Given the description of an element on the screen output the (x, y) to click on. 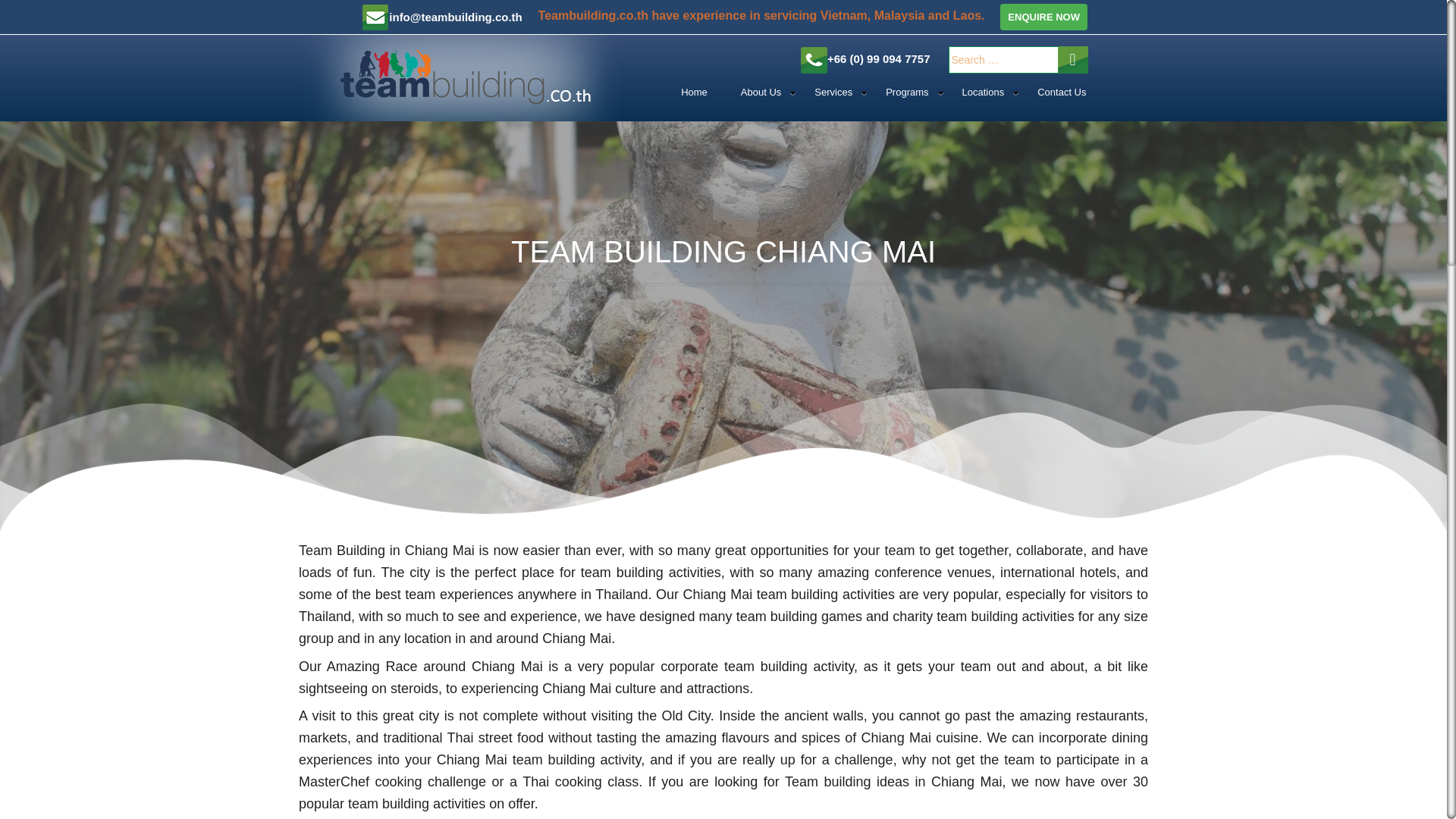
Programs (906, 92)
Home (693, 92)
Services (833, 92)
About Us (760, 92)
Search (1072, 59)
ENQUIRE NOW (1043, 17)
